Given the description of an element on the screen output the (x, y) to click on. 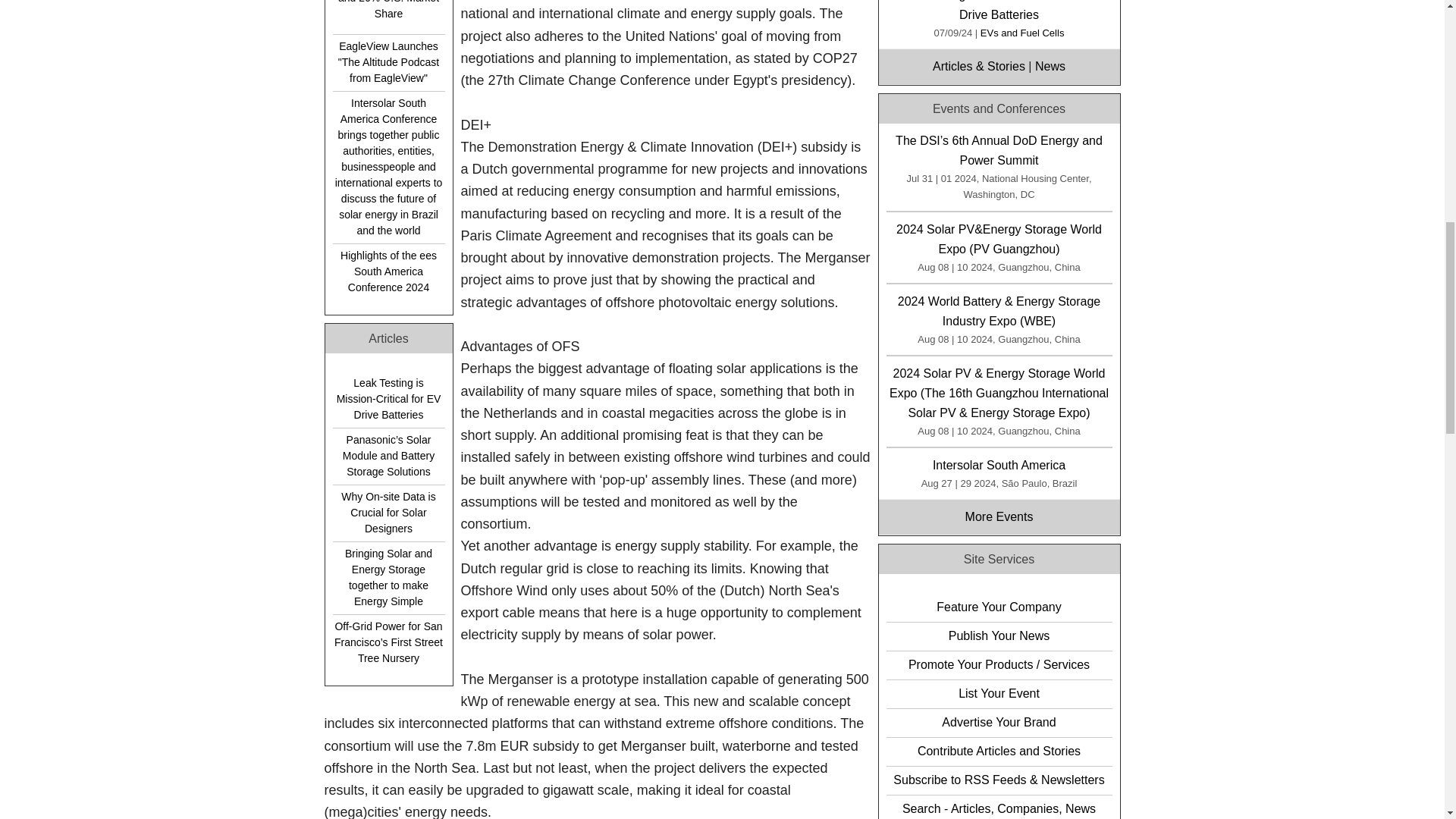
EagleView Launches "The Altitude Podcast from EagleView" (387, 62)
Why On-site Data is Crucial for Solar Designers (387, 512)
Highlights of the ees South America Conference 2024 (387, 271)
Leak Testing is Mission-Critical for EV Drive Batteries (387, 399)
